Given the description of an element on the screen output the (x, y) to click on. 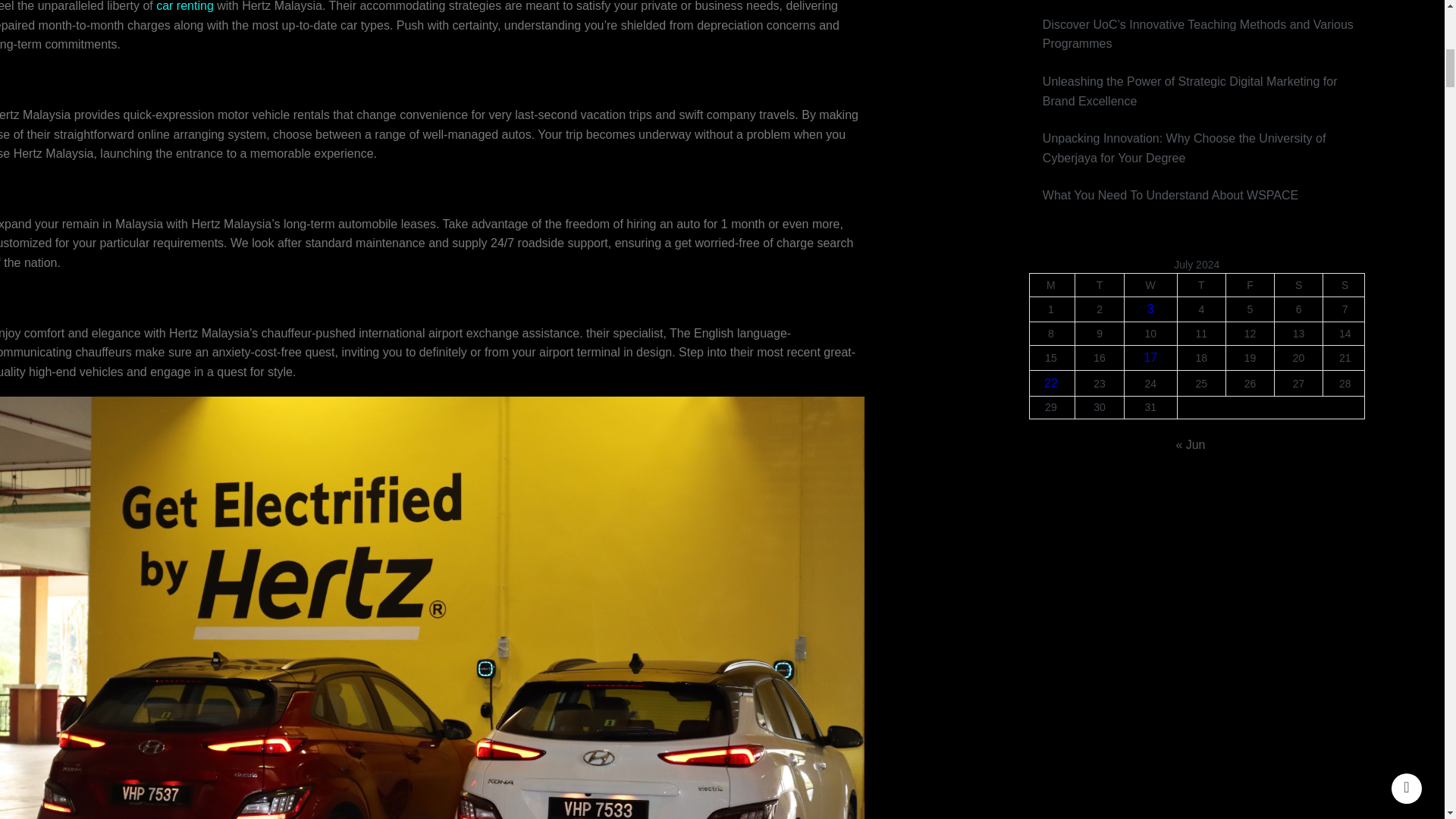
Thursday (1200, 284)
Saturday (1298, 284)
Wednesday (1150, 284)
Sunday (1344, 284)
Friday (1249, 284)
Tuesday (1099, 284)
Monday (1052, 284)
